Given the description of an element on the screen output the (x, y) to click on. 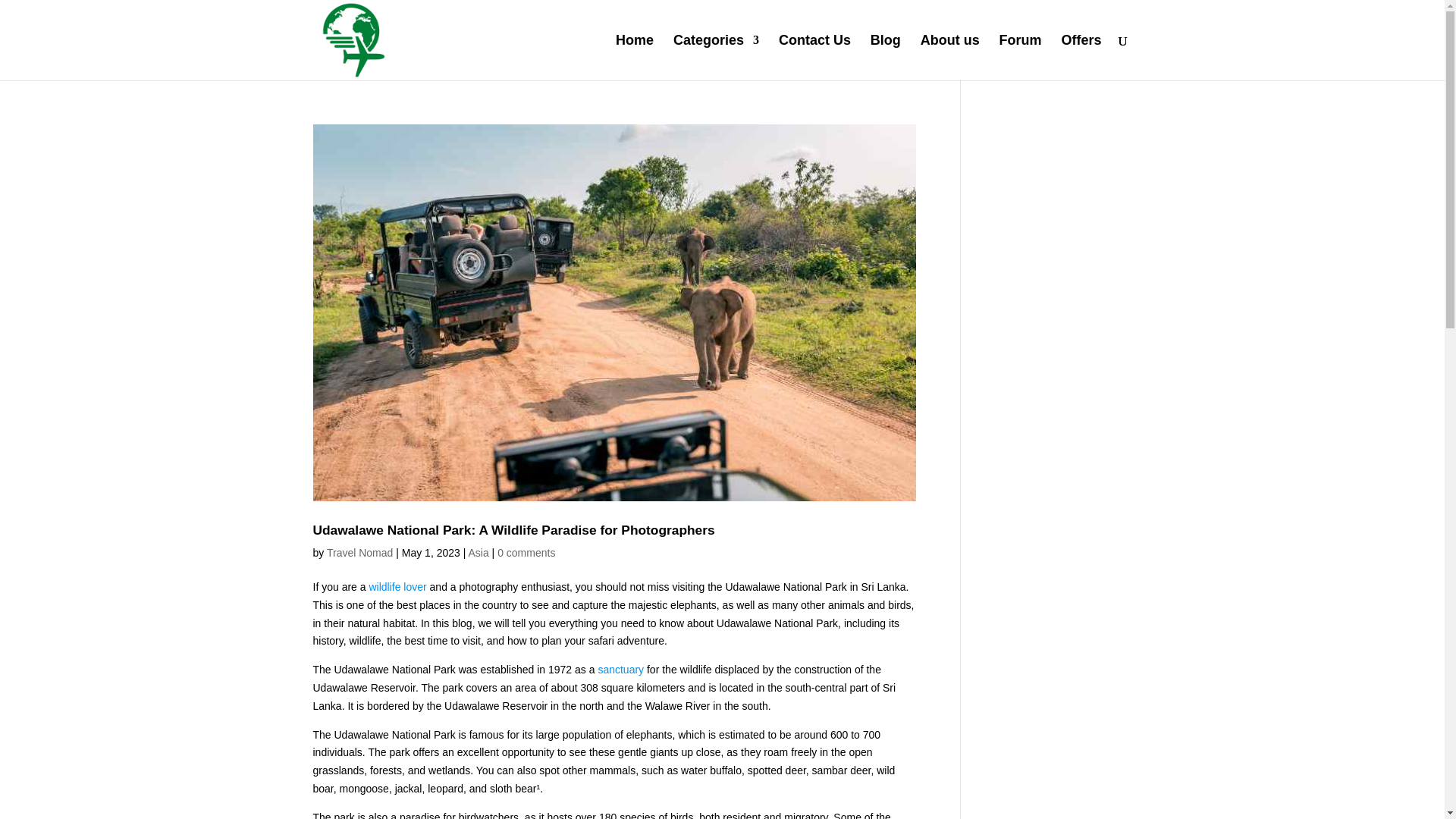
Asia (477, 552)
Forum (1020, 57)
sanctuary (619, 669)
0 comments (525, 552)
About us (949, 57)
wildlife lover (397, 586)
Travel Nomad (359, 552)
Categories (715, 57)
Contact Us (814, 57)
